Given the description of an element on the screen output the (x, y) to click on. 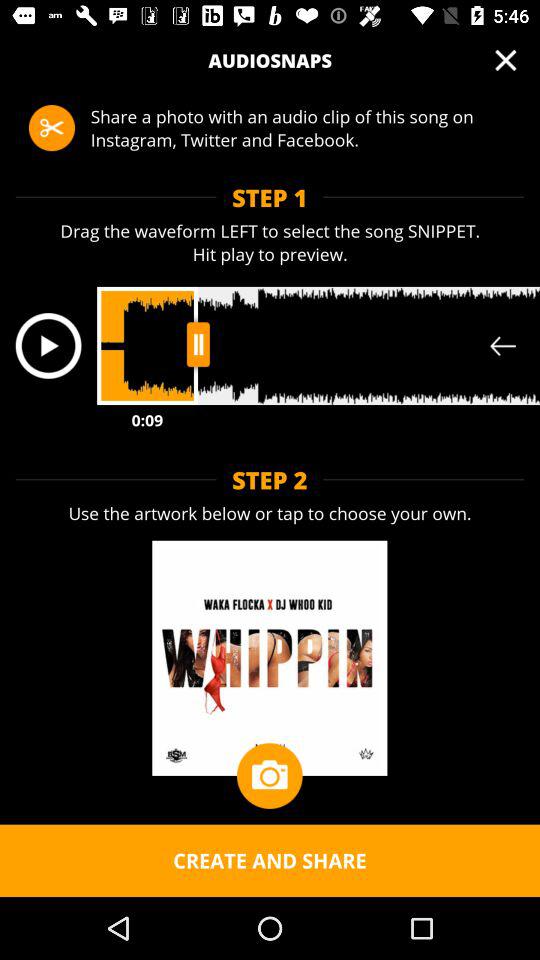
open item above create and share (269, 775)
